Given the description of an element on the screen output the (x, y) to click on. 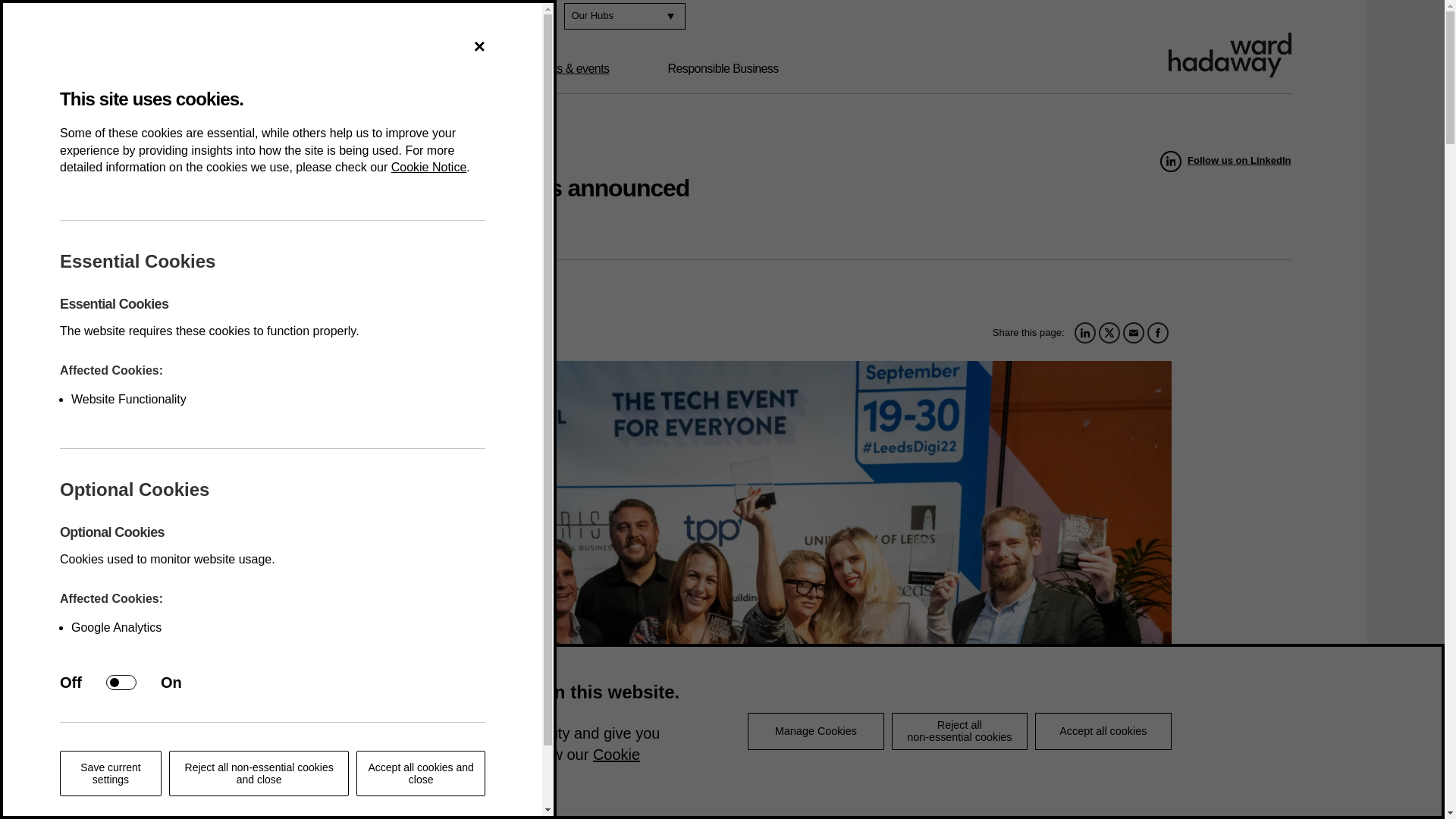
Follow Ward Hadaway on Twitter (505, 16)
Our people (437, 68)
Follow Ward Hadaway on LinkedIn (1225, 160)
Home (164, 157)
Follow Ward Hadaway on Vimeo (537, 16)
Accessibility (399, 16)
Get in touch (305, 16)
Join us (222, 16)
Get in touch (305, 16)
Share this article on LinkedIn (1084, 332)
Connect with Ward Hadaway on LinkedIn (473, 16)
Accessibility (399, 16)
Responsible Business (722, 68)
Share this article on twitter (1108, 332)
Share this article on facebook (1157, 332)
